Given the description of an element on the screen output the (x, y) to click on. 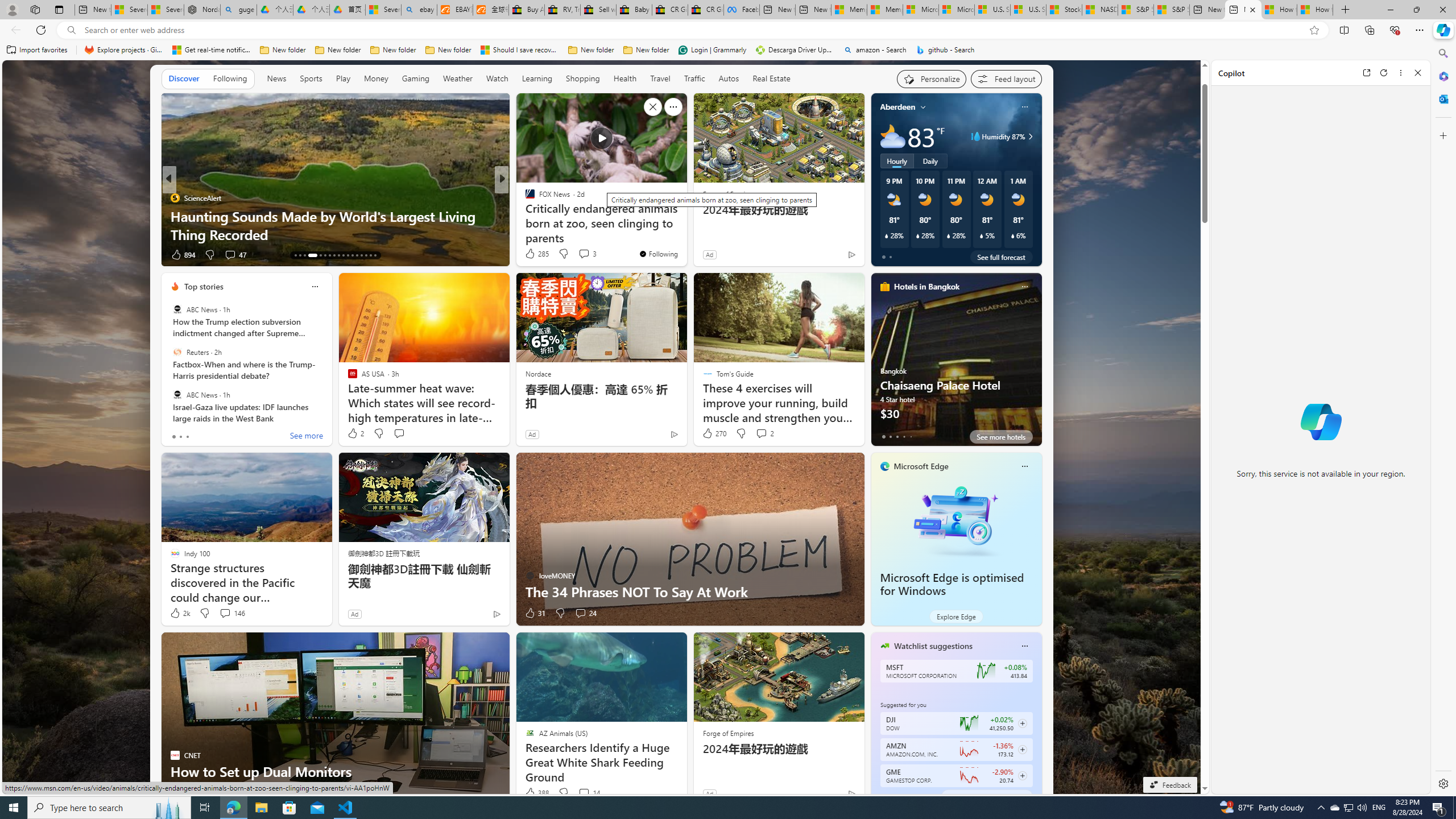
AutomationID: tab-17 (317, 255)
Forge of Empires (727, 732)
Class: follow-button  m (1021, 775)
Sports (310, 78)
Discover (183, 79)
AutomationID: tab-14 (299, 255)
Login | Grammarly (712, 49)
AutomationID: tab-20 (333, 255)
